Given the description of an element on the screen output the (x, y) to click on. 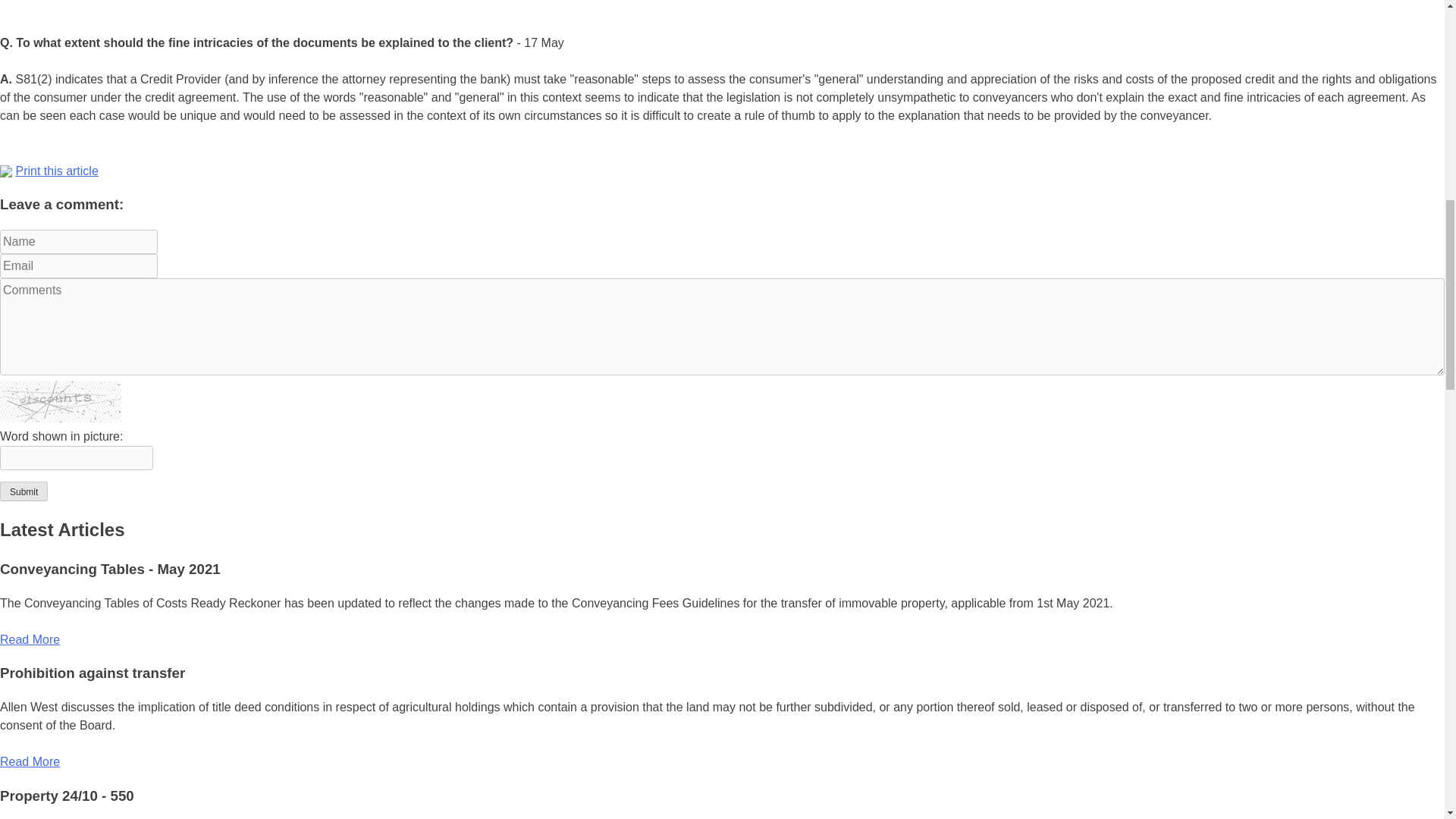
Read More (29, 761)
Submit (24, 491)
Print this article (55, 170)
Read More (29, 639)
